Given the description of an element on the screen output the (x, y) to click on. 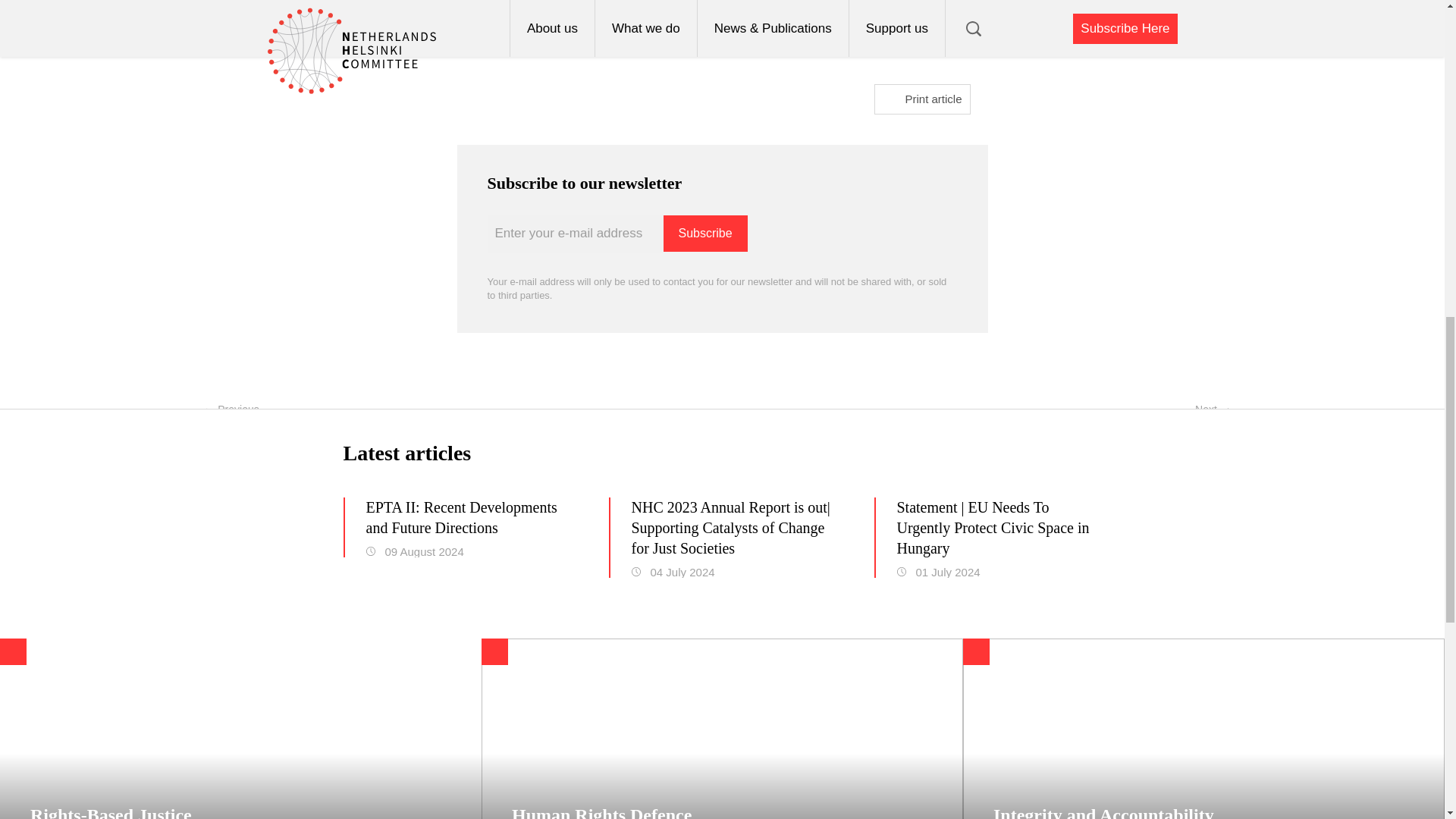
Subscribe (704, 233)
Share this article on LinkedIn (734, 36)
EPTA II: Recent Developments and Future Directions (467, 517)
Subscribe (704, 233)
Share this article on Twitter (684, 36)
Share this article on WhatsApp (760, 36)
Share this article on Facebook (709, 36)
Print article (921, 98)
Human Rights Defence (721, 728)
Rights-Based Justice (240, 728)
